Given the description of an element on the screen output the (x, y) to click on. 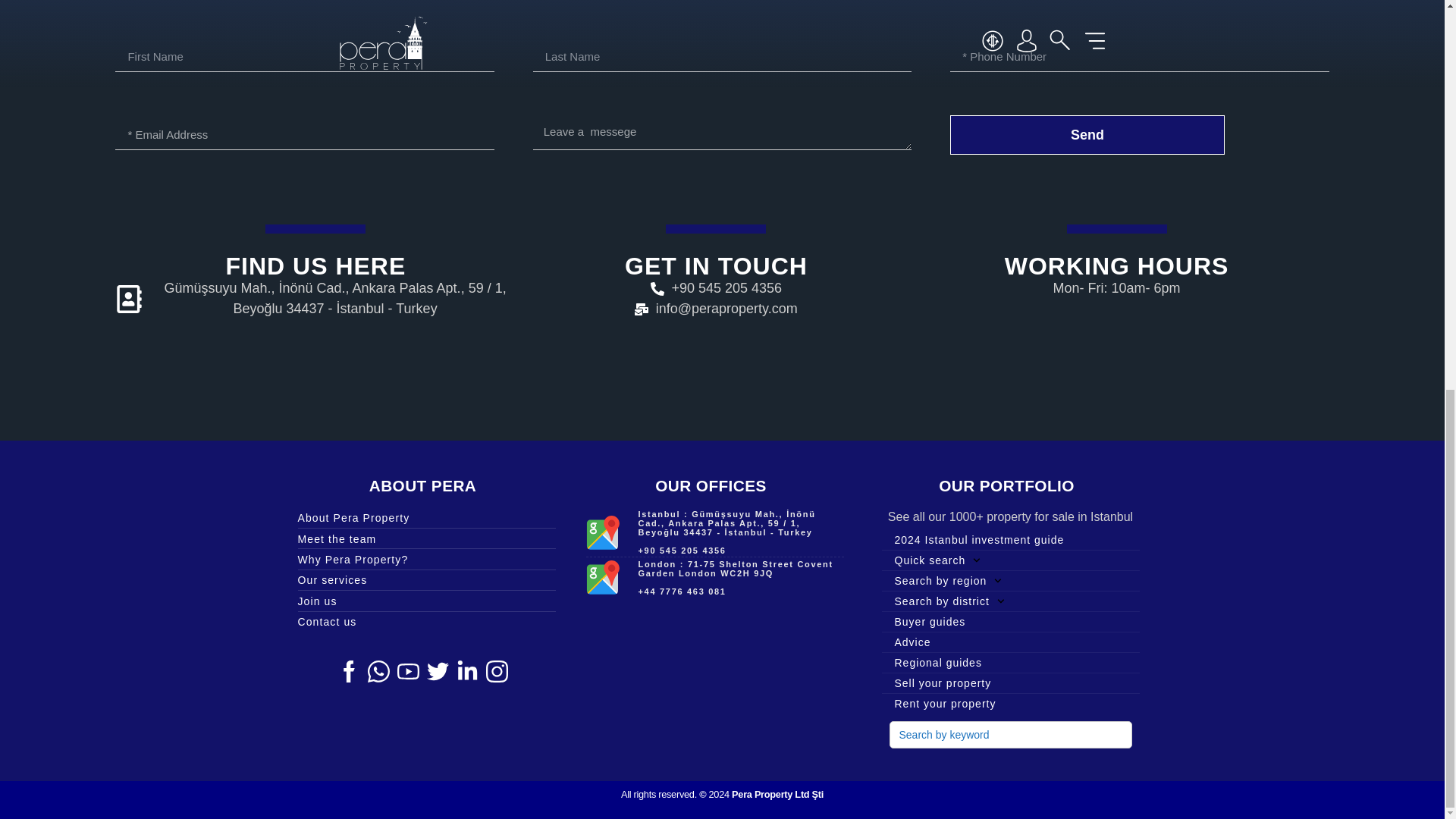
Send (1087, 134)
Meet the team (425, 538)
Contact us (425, 621)
About Pera Property (425, 517)
Join us (425, 600)
Why Pera Property? (425, 559)
Quick search (1009, 560)
2024 Istanbul investment guide (1009, 539)
Our services (425, 579)
